Given the description of an element on the screen output the (x, y) to click on. 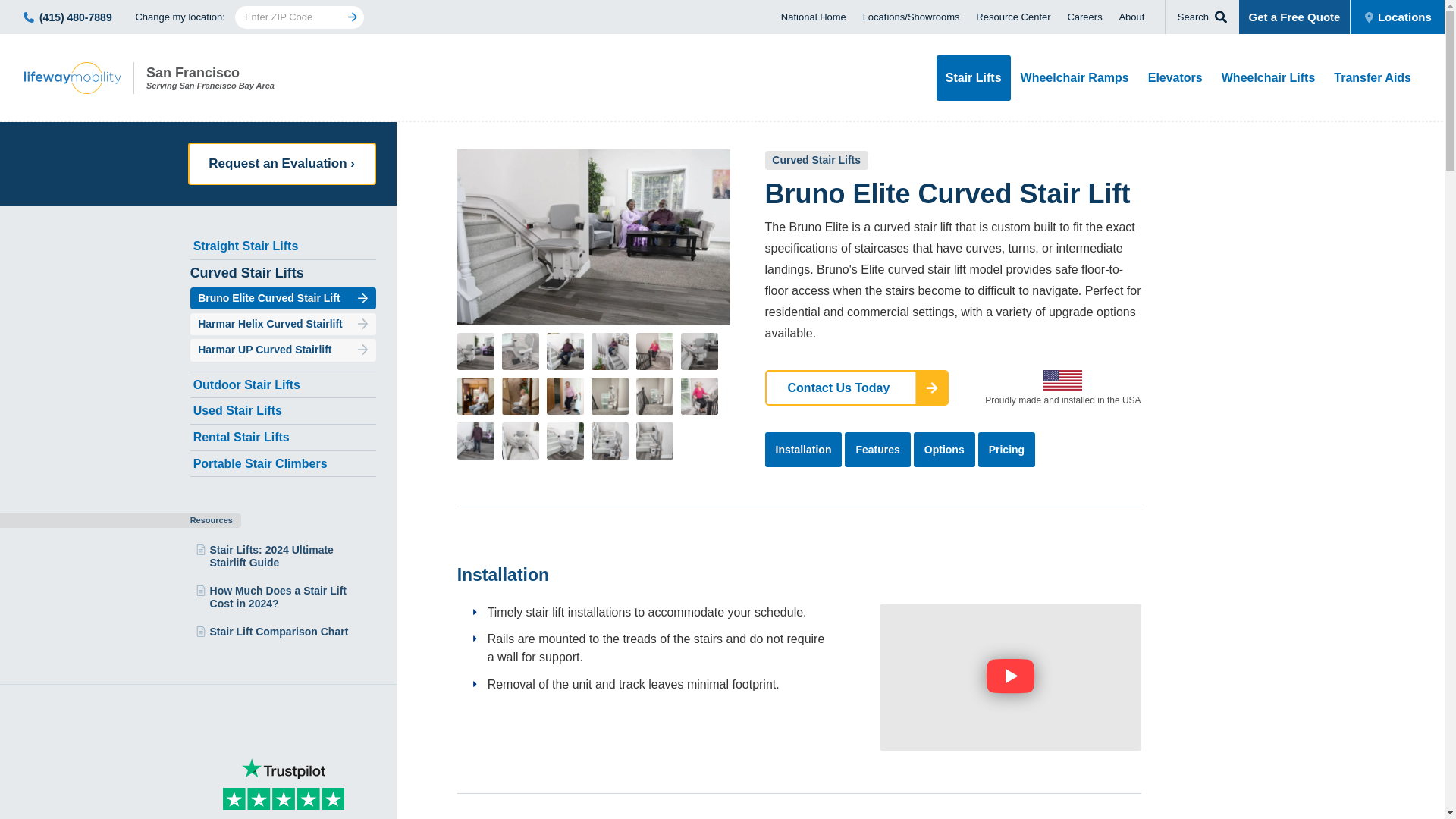
About (1131, 16)
Customer reviews powered by Trustpilot (282, 788)
InstallationFeaturesOptionsPricing (953, 451)
Elevators (1174, 77)
Wheelchair Lifts (187, 78)
Search (1268, 77)
Careers (1201, 17)
Transfer Aids (1084, 16)
National Home (1372, 77)
Wheelchair Ramps (813, 16)
Lifeway Mobility (1074, 77)
Stair Lifts (187, 78)
Resource Center (973, 77)
